Given the description of an element on the screen output the (x, y) to click on. 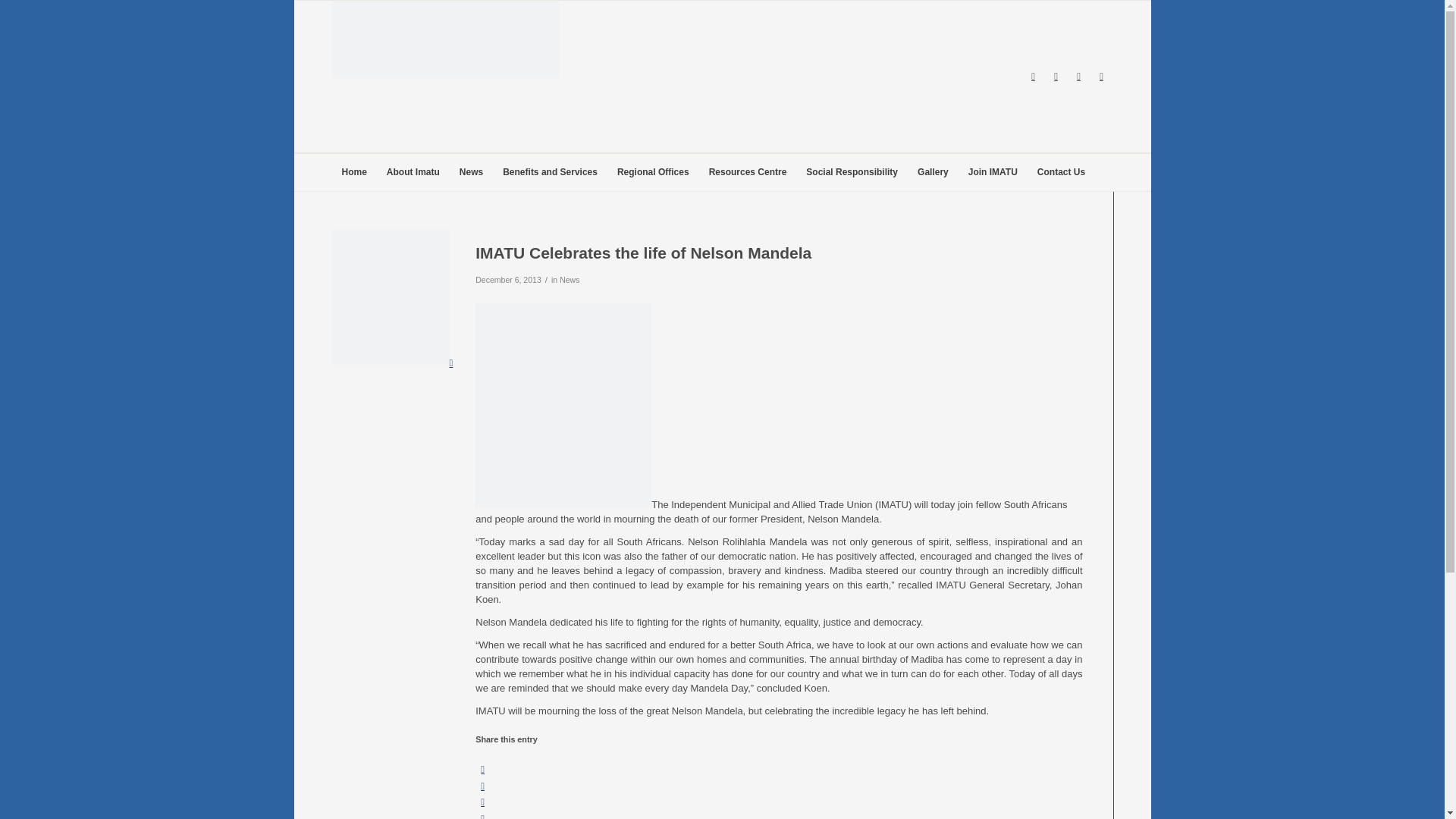
News (471, 171)
nelson-mandela (391, 362)
Home (354, 171)
News (569, 279)
Resources Centre (747, 171)
Regional Offices (652, 171)
Benefits and Services (550, 171)
imatu-logo-slogan (445, 76)
About Imatu (413, 171)
imatu-logo-slogan (445, 38)
